Given the description of an element on the screen output the (x, y) to click on. 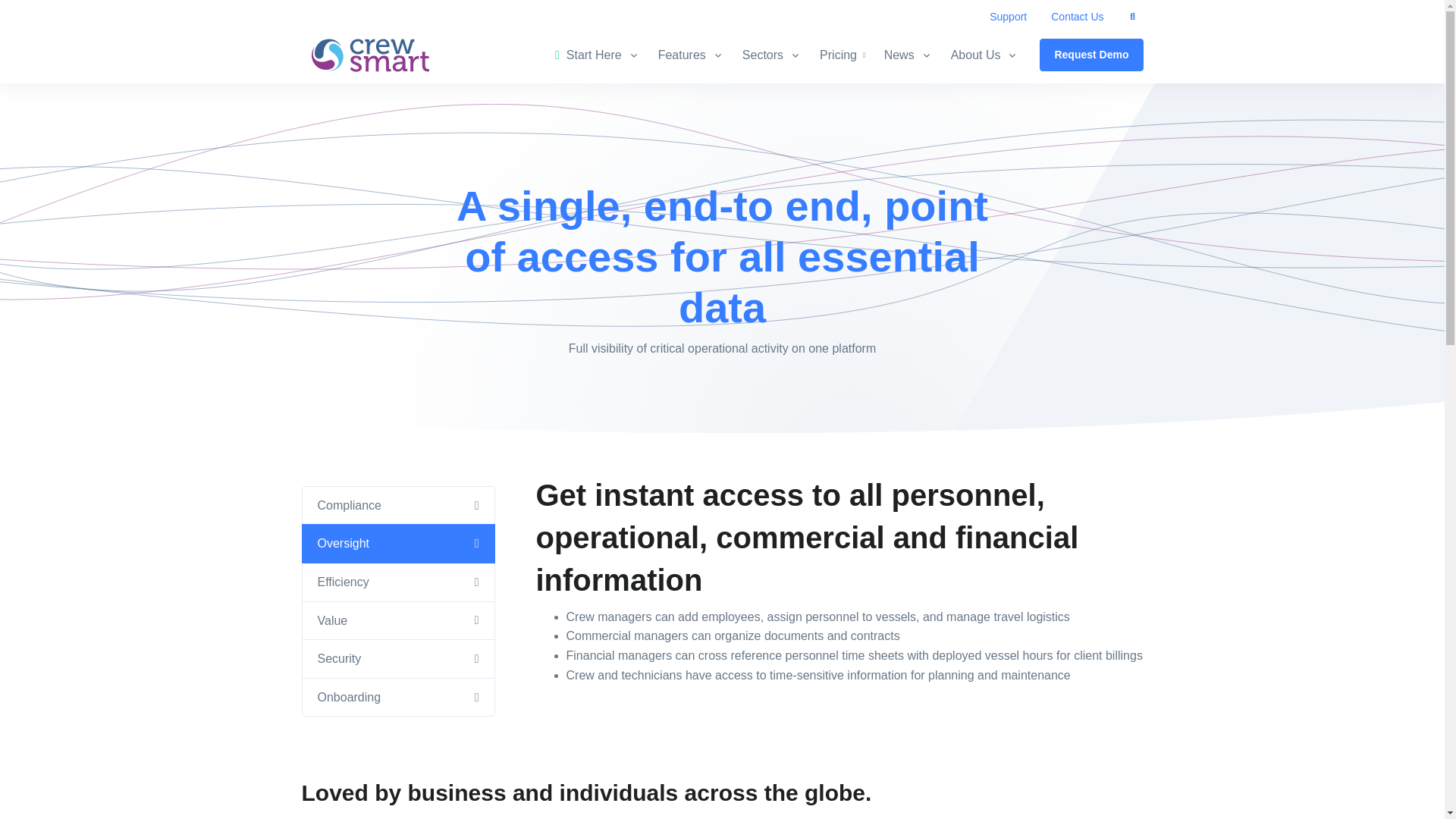
Support (1007, 16)
Features (691, 55)
Contact Us (1077, 16)
Sectors (771, 55)
  Start Here (601, 55)
